Given the description of an element on the screen output the (x, y) to click on. 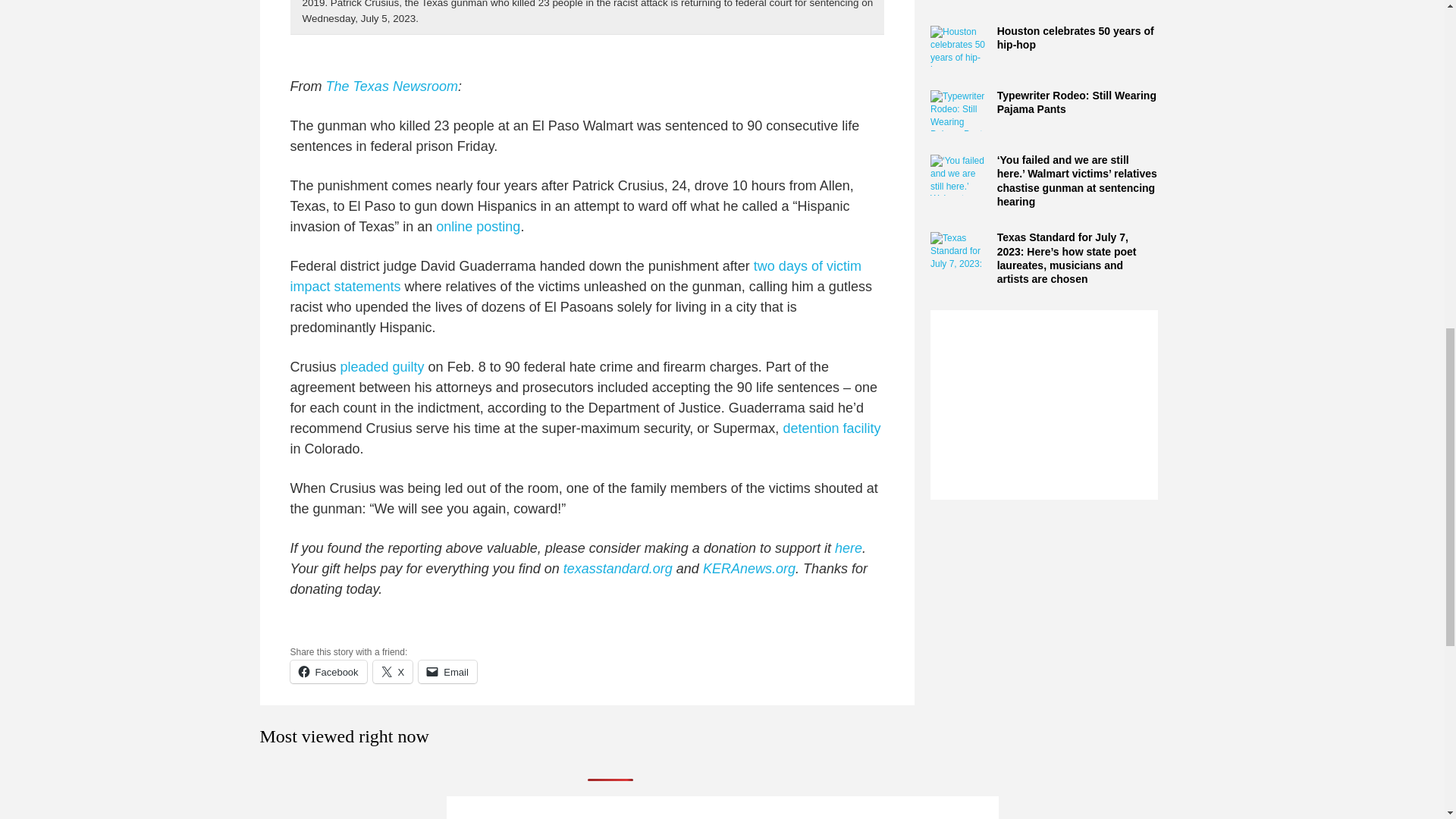
Click to share on Facebook (327, 671)
Click to email a link to a friend (448, 671)
Click to share on X (392, 671)
